Given the description of an element on the screen output the (x, y) to click on. 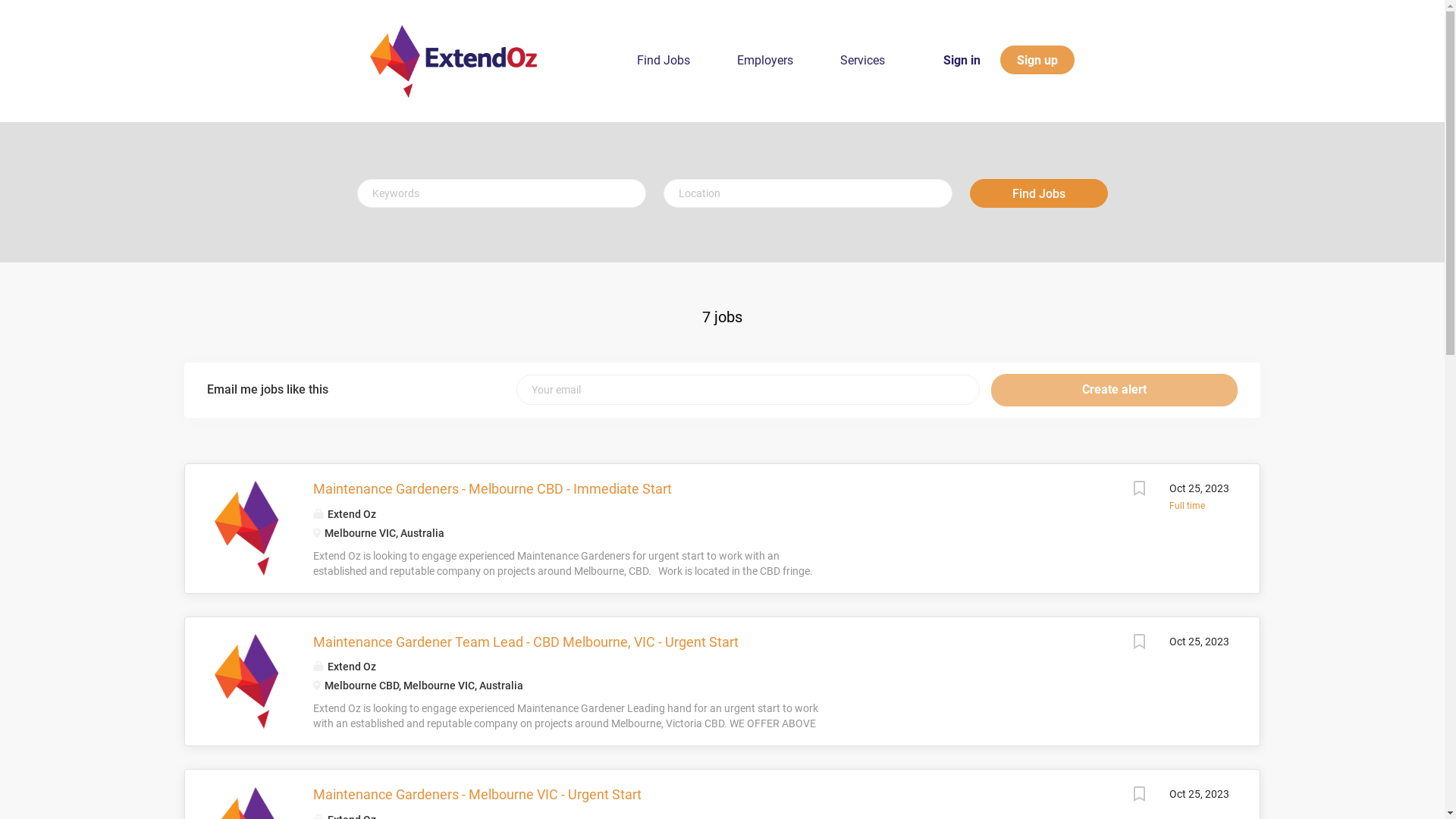
Sign in Element type: text (961, 58)
Maintenance Gardeners - Melbourne CBD - Immediate Start Element type: text (492, 488)
Maintenance Gardeners - Melbourne VIC - Urgent Start Element type: text (477, 794)
Save Element type: hover (1138, 795)
Save Element type: hover (1138, 642)
Save Element type: hover (1138, 489)
Sign up Element type: text (1037, 59)
Employers Element type: text (765, 63)
Find Jobs Element type: text (663, 63)
Find Jobs Element type: text (1038, 192)
Services Element type: text (862, 63)
Create alert Element type: text (1114, 389)
